Given the description of an element on the screen output the (x, y) to click on. 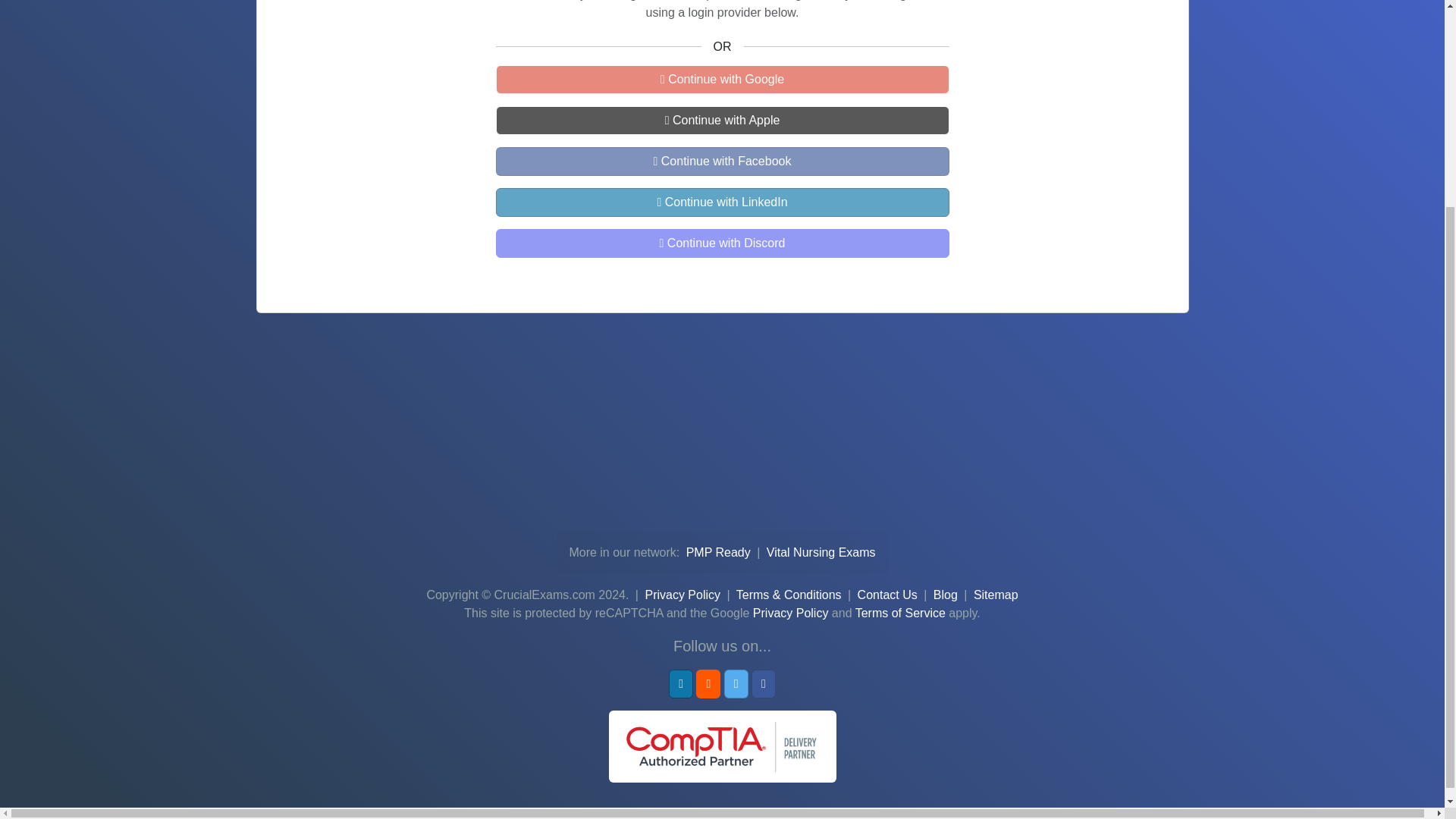
Sitemap (995, 594)
Vital Nursing Exams (821, 552)
Continue with LinkedIn (722, 202)
Continue with Facebook (722, 161)
Log in using your LinkedIn account (722, 202)
Contact Us (887, 594)
Privacy Policy (790, 612)
Log in using your Apple account (722, 120)
Terms of Service (900, 612)
Blog (945, 594)
Log in using your Google account (722, 79)
PMP Ready (719, 552)
Log in using your Facebook account (722, 161)
Continue with Discord (722, 243)
Continue with Google (722, 79)
